Given the description of an element on the screen output the (x, y) to click on. 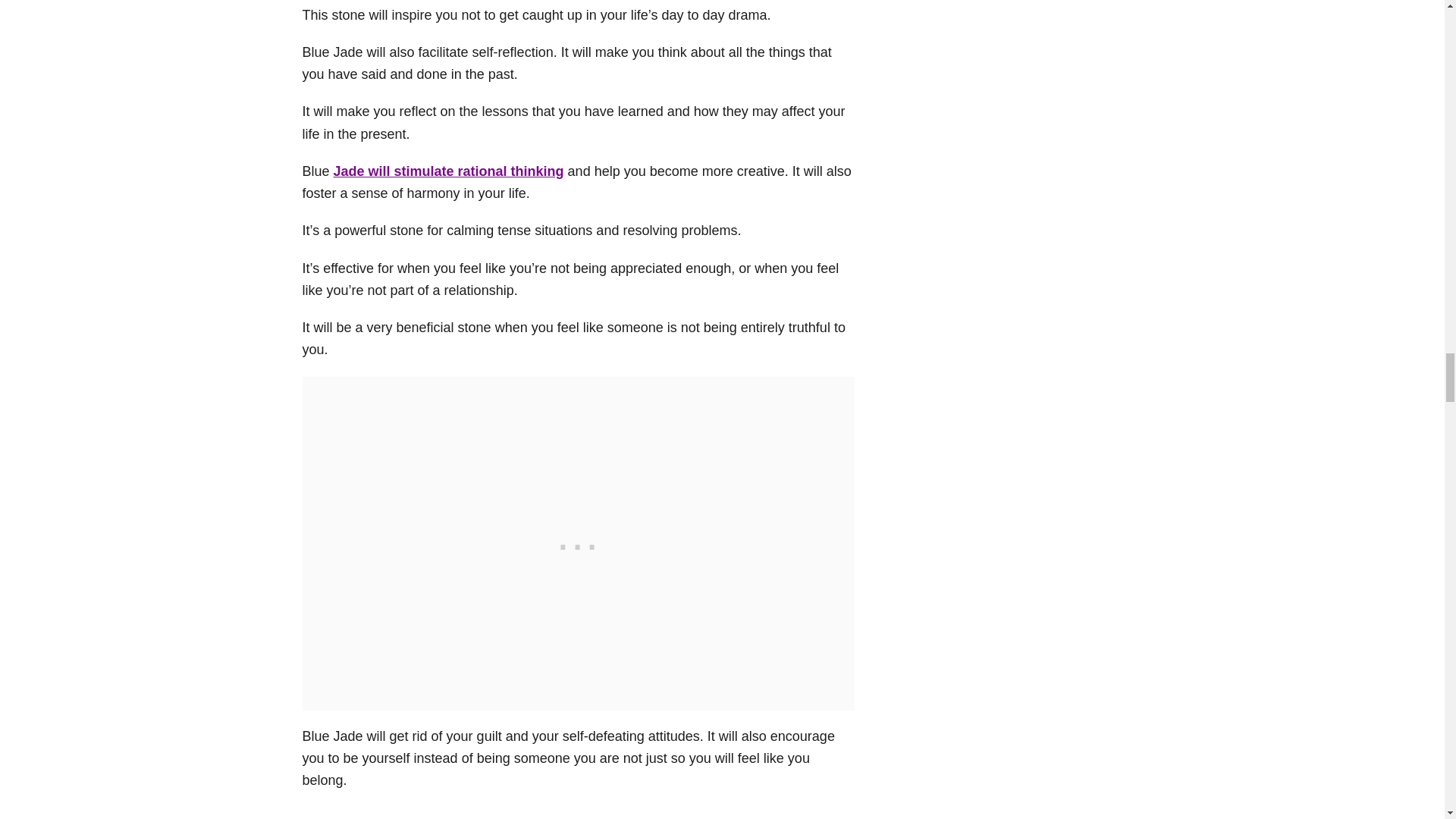
Jade will stimulate rational thinking (448, 171)
